Given the description of an element on the screen output the (x, y) to click on. 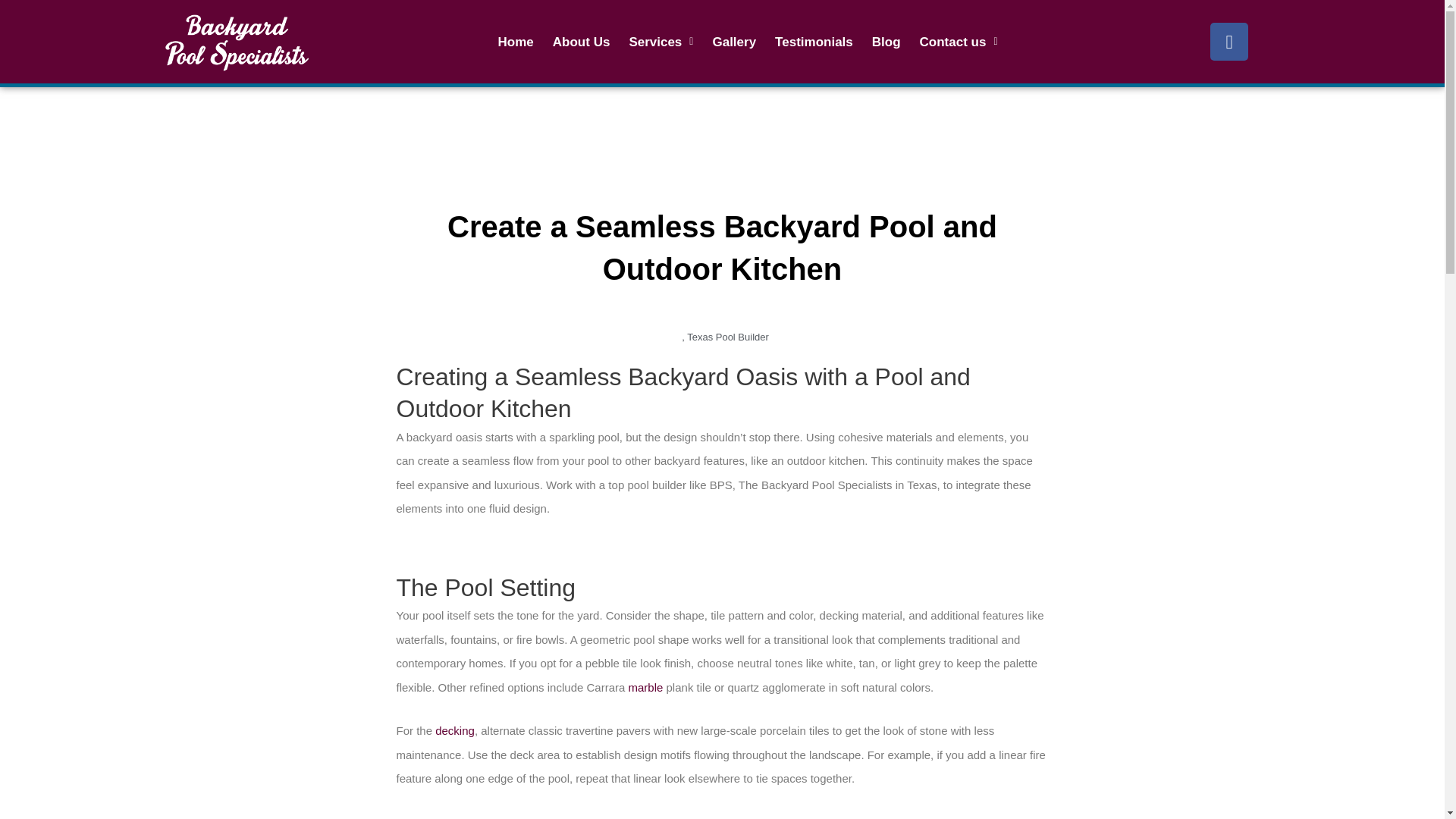
Blog (886, 41)
Texas Pool Builder (727, 337)
Contact us (958, 41)
Testimonials (813, 41)
Home (515, 41)
About Us (581, 41)
Facebook (1228, 41)
marble (646, 686)
Services (660, 41)
decking (454, 730)
